Given the description of an element on the screen output the (x, y) to click on. 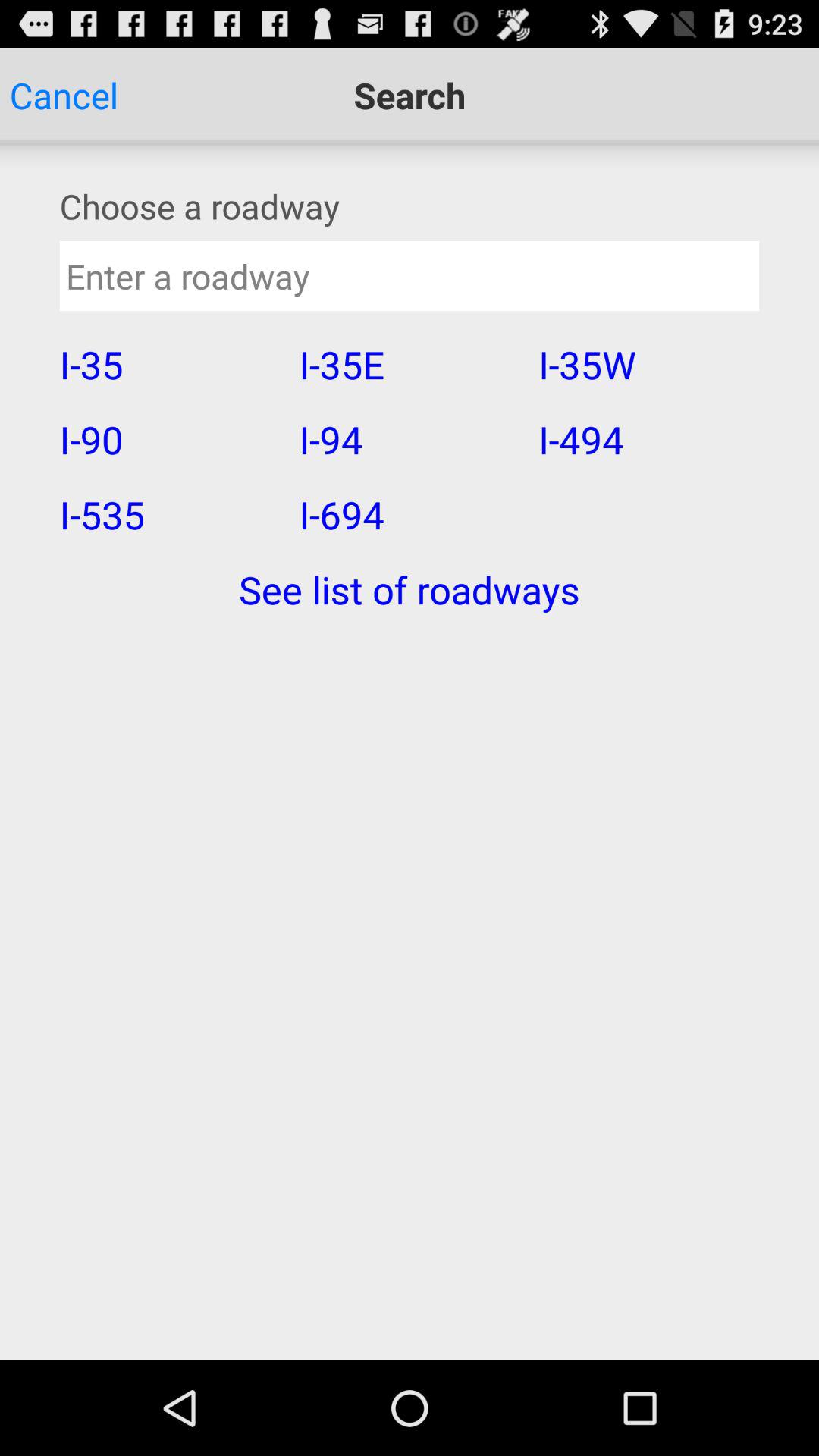
launch the item below i-35 app (169, 439)
